Given the description of an element on the screen output the (x, y) to click on. 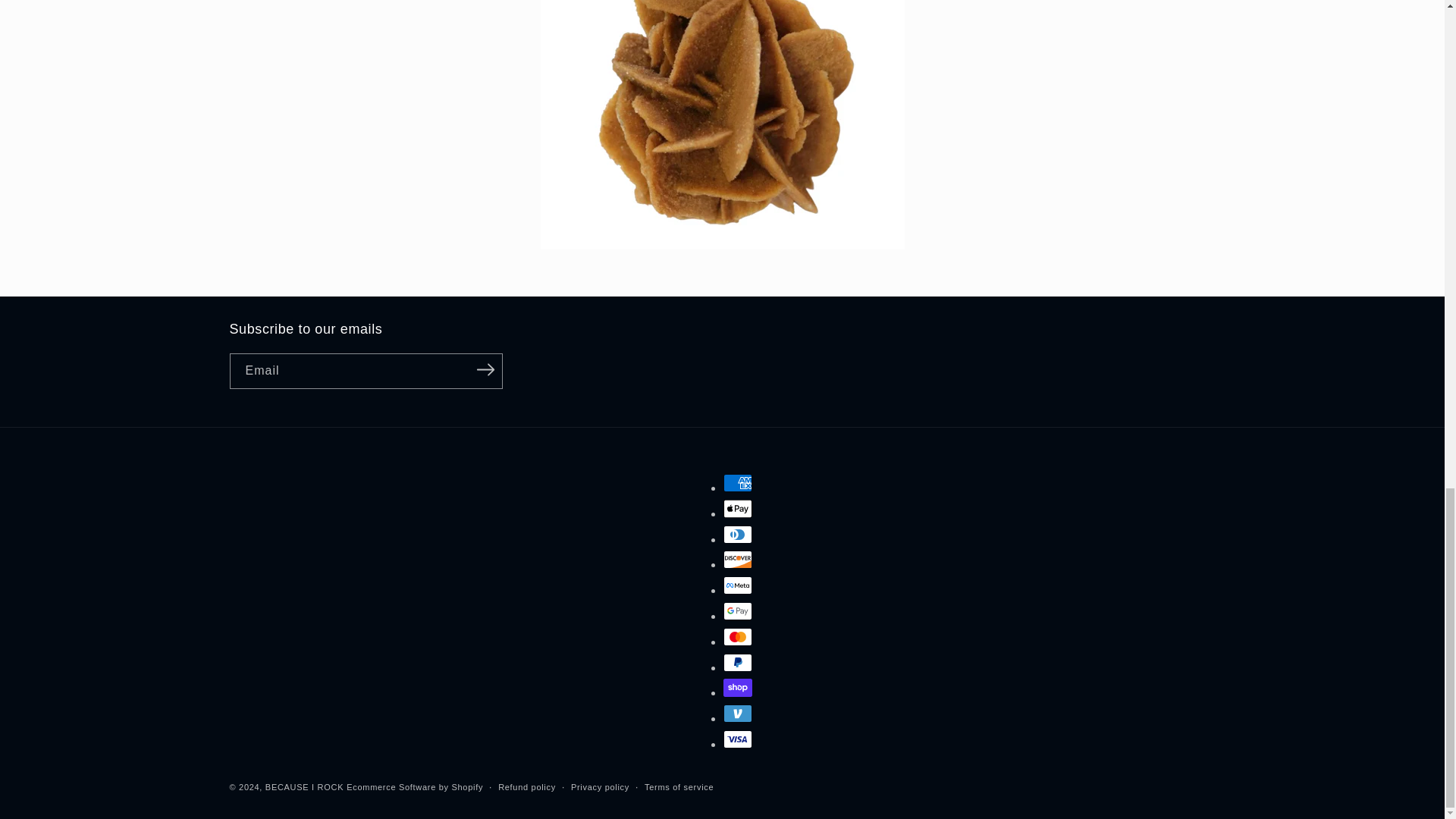
Visa (737, 739)
American Express (737, 483)
Venmo (737, 713)
PayPal (737, 662)
Mastercard (737, 637)
Meta Pay (737, 585)
Terms of service (679, 787)
Shop Pay (737, 687)
Diners Club (737, 534)
Refund policy (526, 787)
Discover (737, 559)
Apple Pay (737, 508)
Privacy policy (599, 787)
BECAUSE I ROCK (303, 786)
Ecommerce Software by Shopify (414, 786)
